Given the description of an element on the screen output the (x, y) to click on. 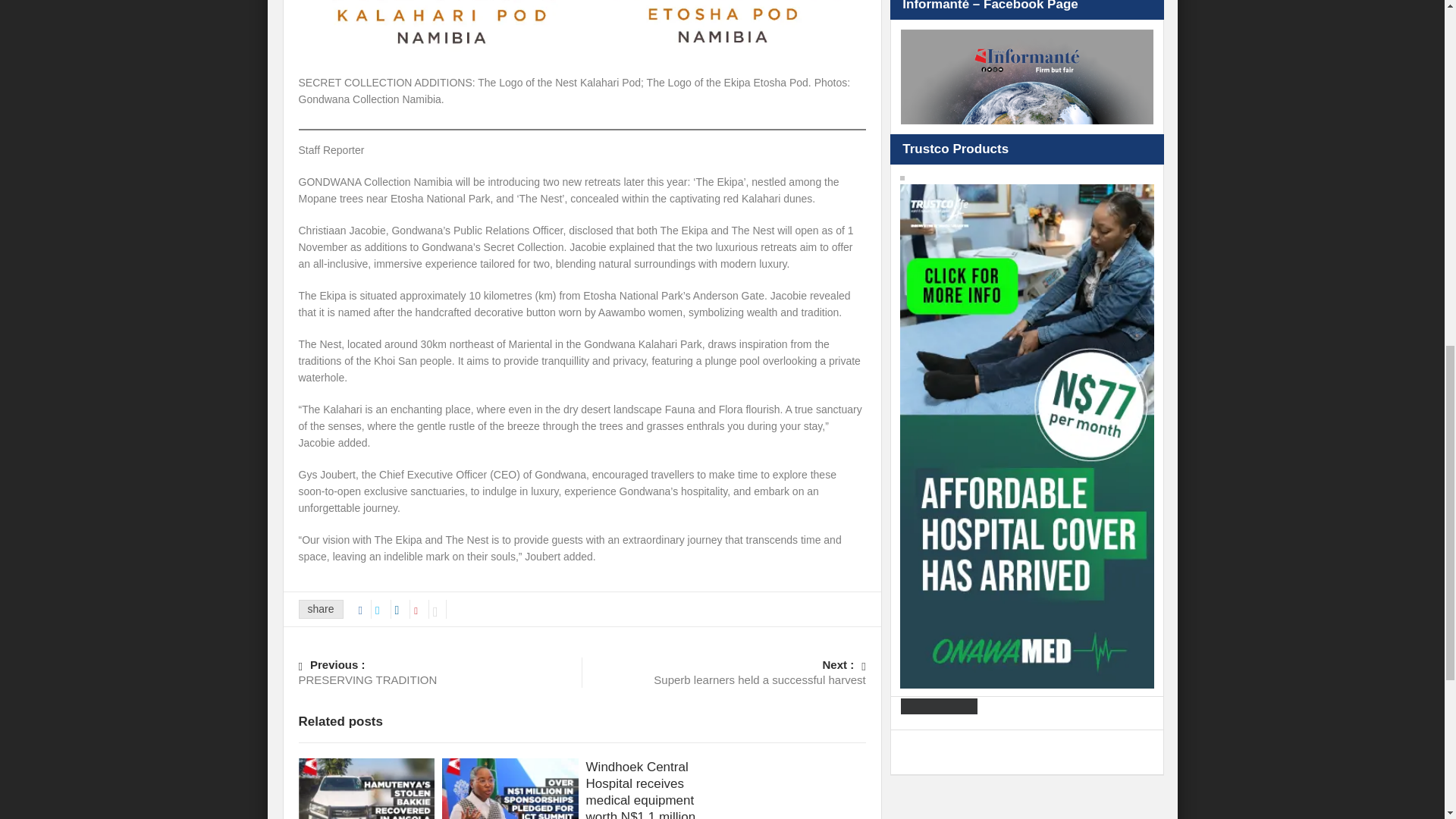
Trustco Finance (723, 671)
